Given the description of an element on the screen output the (x, y) to click on. 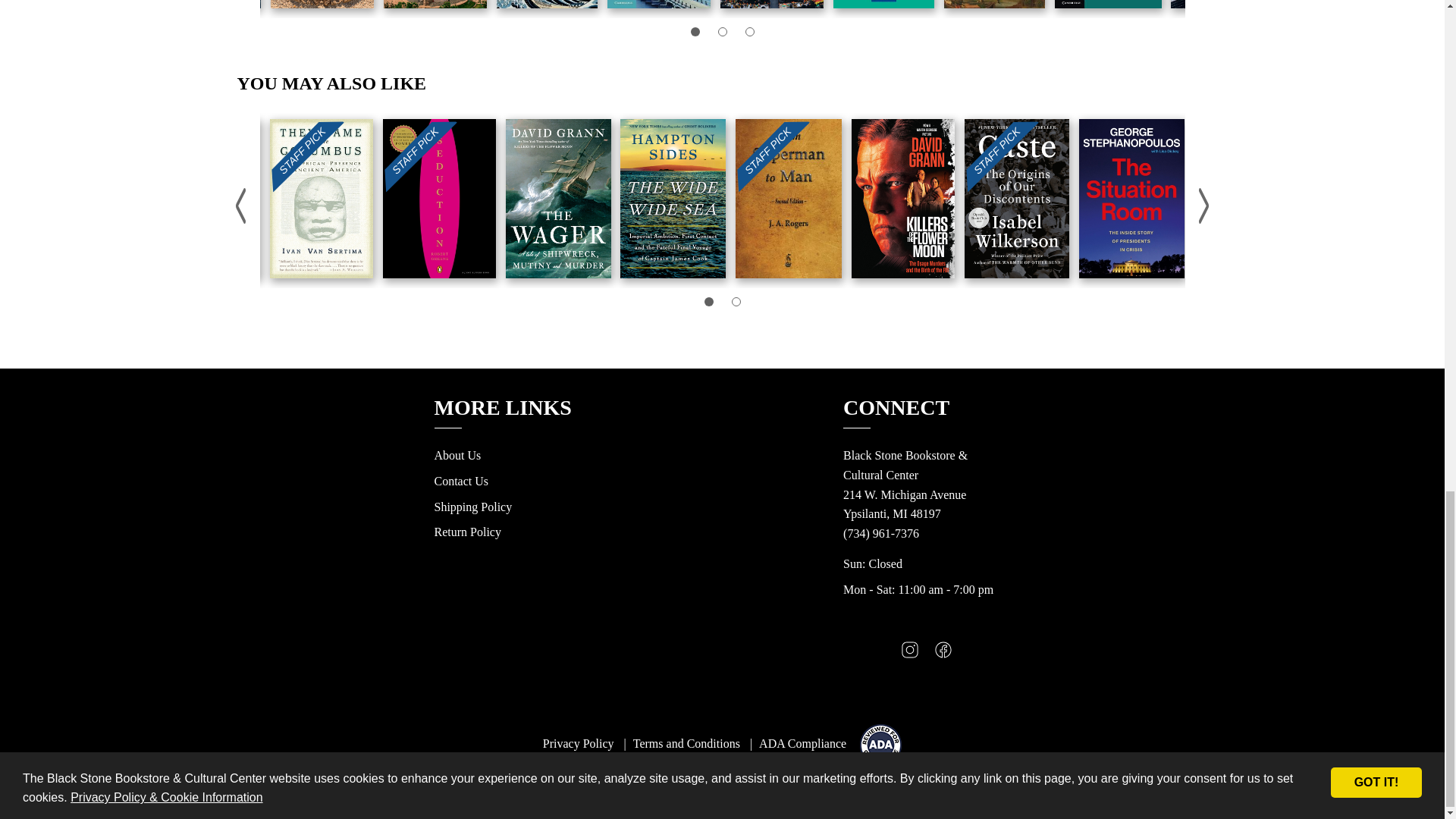
Connect with Instagram (909, 653)
Connect with Facebook (943, 653)
